Given the description of an element on the screen output the (x, y) to click on. 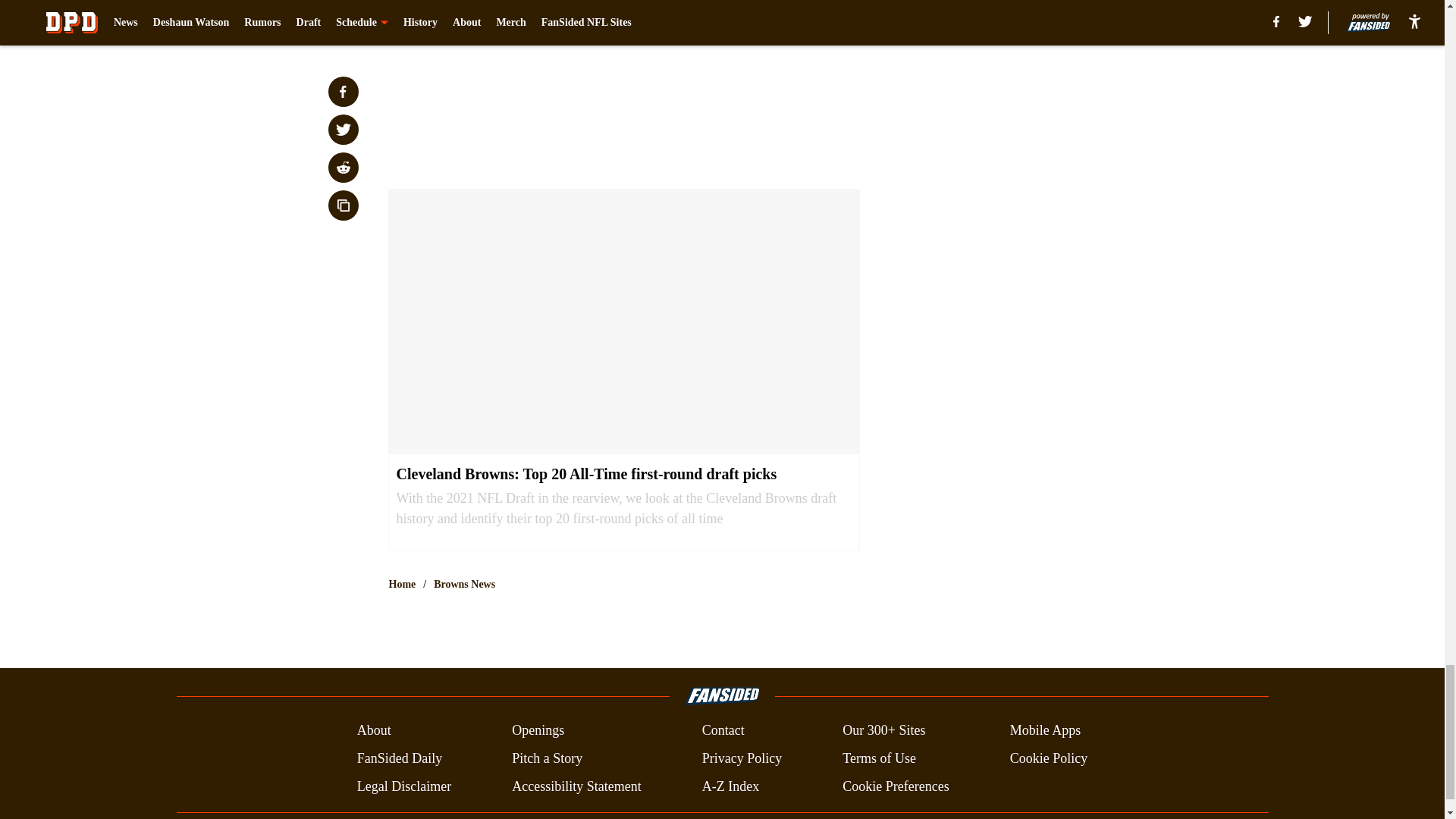
Home (401, 584)
Openings (538, 730)
Terms of Use (879, 758)
Browns News (464, 584)
Mobile Apps (1045, 730)
Contact (722, 730)
Pitch a Story (547, 758)
FanSided Daily (399, 758)
Privacy Policy (742, 758)
